Given the description of an element on the screen output the (x, y) to click on. 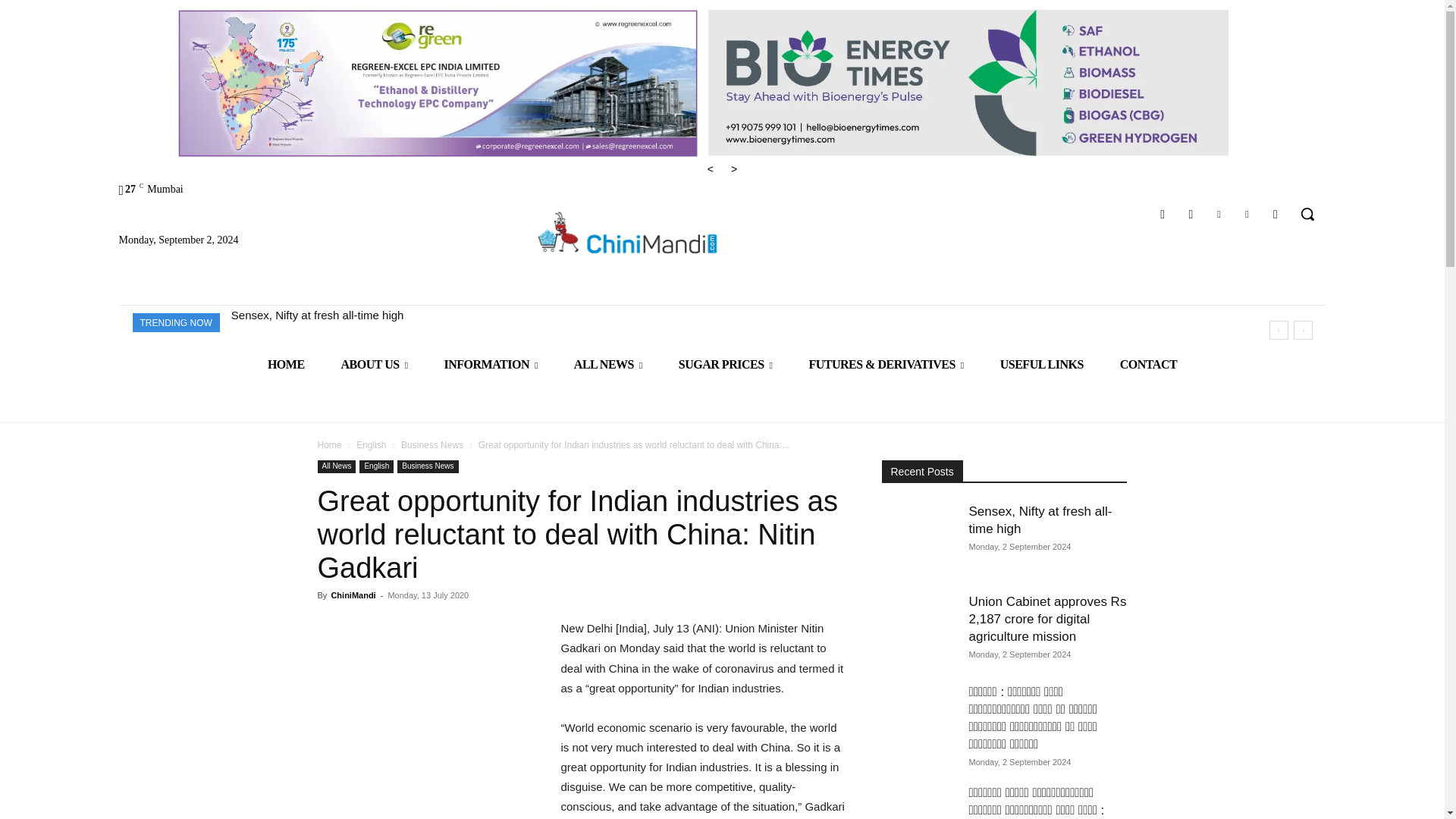
Linkedin (1218, 213)
Sensex, Nifty at fresh all-time high (317, 314)
Twitter (1246, 213)
Facebook (1163, 213)
Youtube (1275, 213)
Instagram (1190, 213)
